Given the description of an element on the screen output the (x, y) to click on. 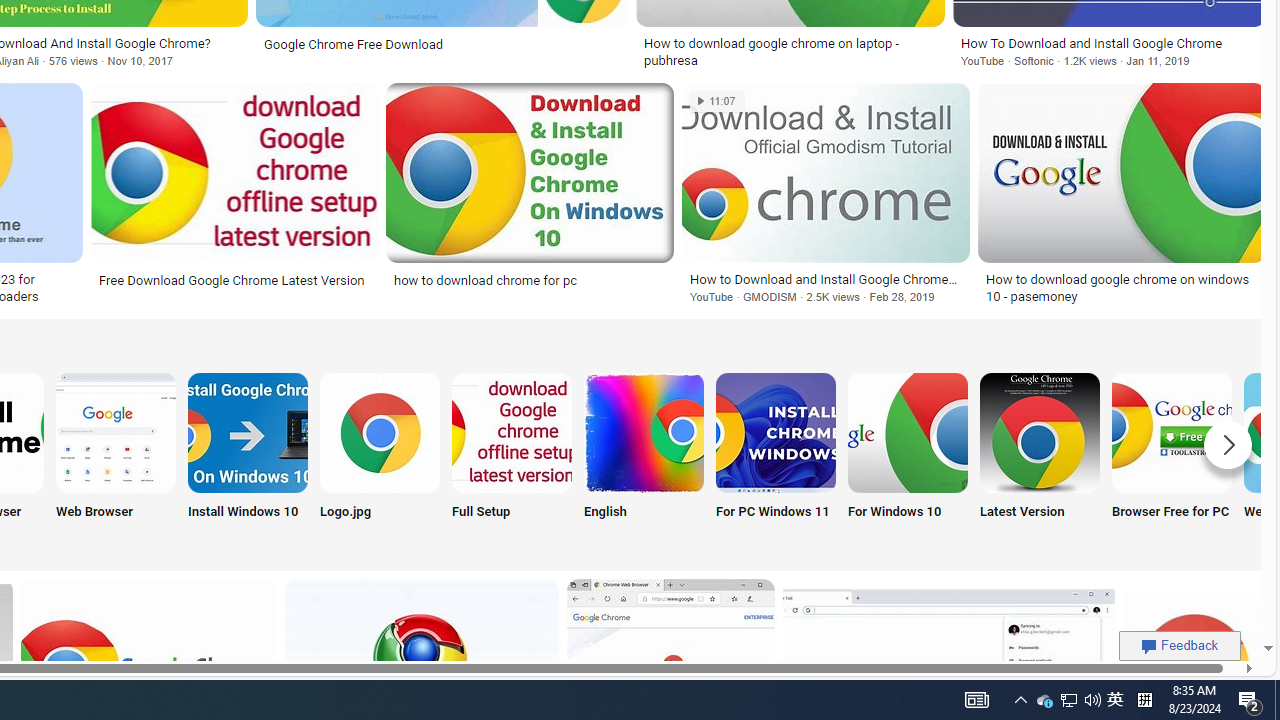
Download Google Chrome Browser Free for PC (1171, 432)
Google Chrome Download for PC Windows 11 (775, 432)
How to download google chrome on windows 10 - pasemoney (1121, 287)
Google Chrome Free Download (353, 44)
Google Chrome Web Browser Download (116, 432)
How to download google chrome on windows 10 - pasemoney (1121, 287)
Free Download Google Chrome Latest VersionSave (238, 196)
English (643, 457)
